Given the description of an element on the screen output the (x, y) to click on. 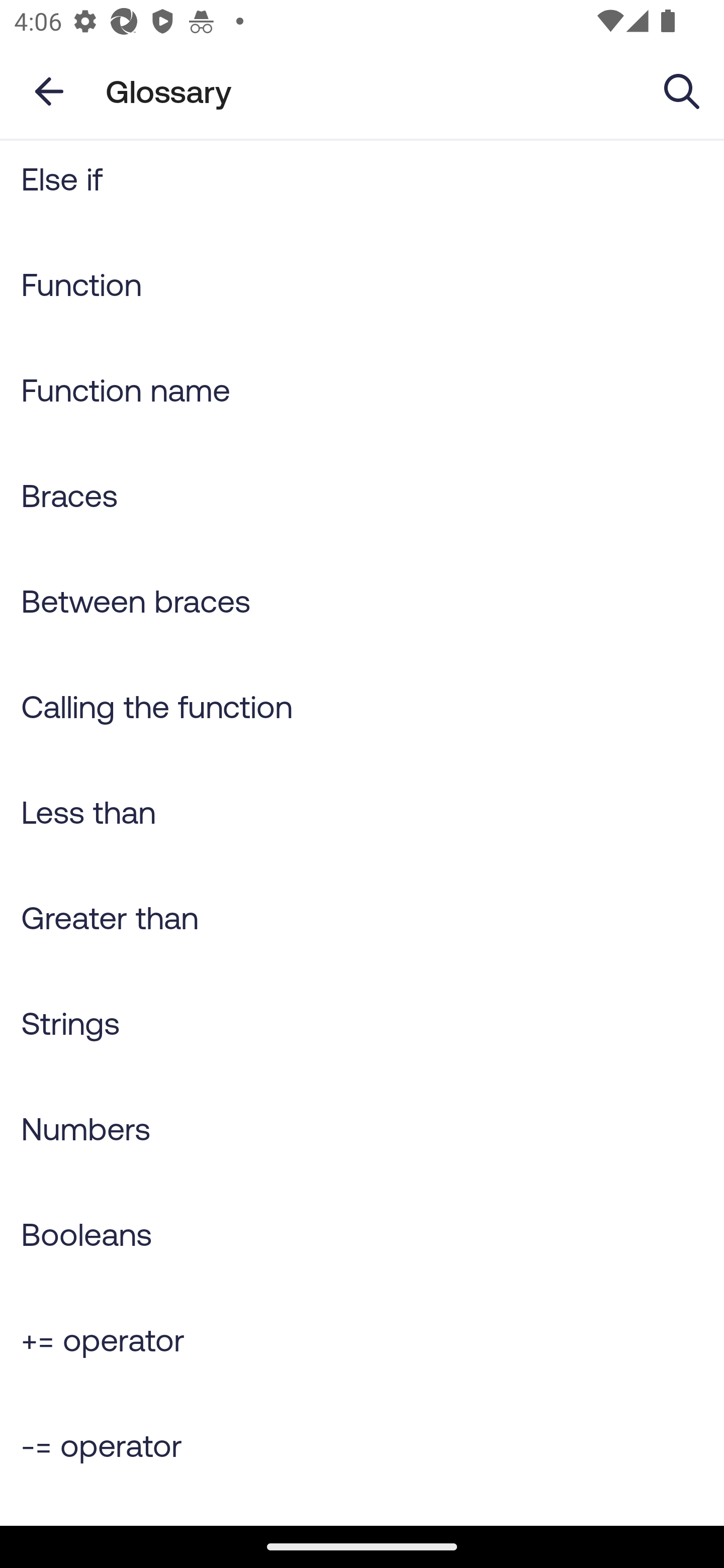
Navigate up (49, 91)
Search Glossary (681, 90)
Else if (362, 185)
Function (362, 283)
Function name (362, 389)
Braces (362, 494)
Between braces (362, 600)
Calling the function (362, 705)
Less than (362, 810)
Greater than (362, 916)
Strings  (362, 1022)
Numbers  (362, 1127)
Booleans  (362, 1233)
+= operator (362, 1339)
-= operator (362, 1444)
